Given the description of an element on the screen output the (x, y) to click on. 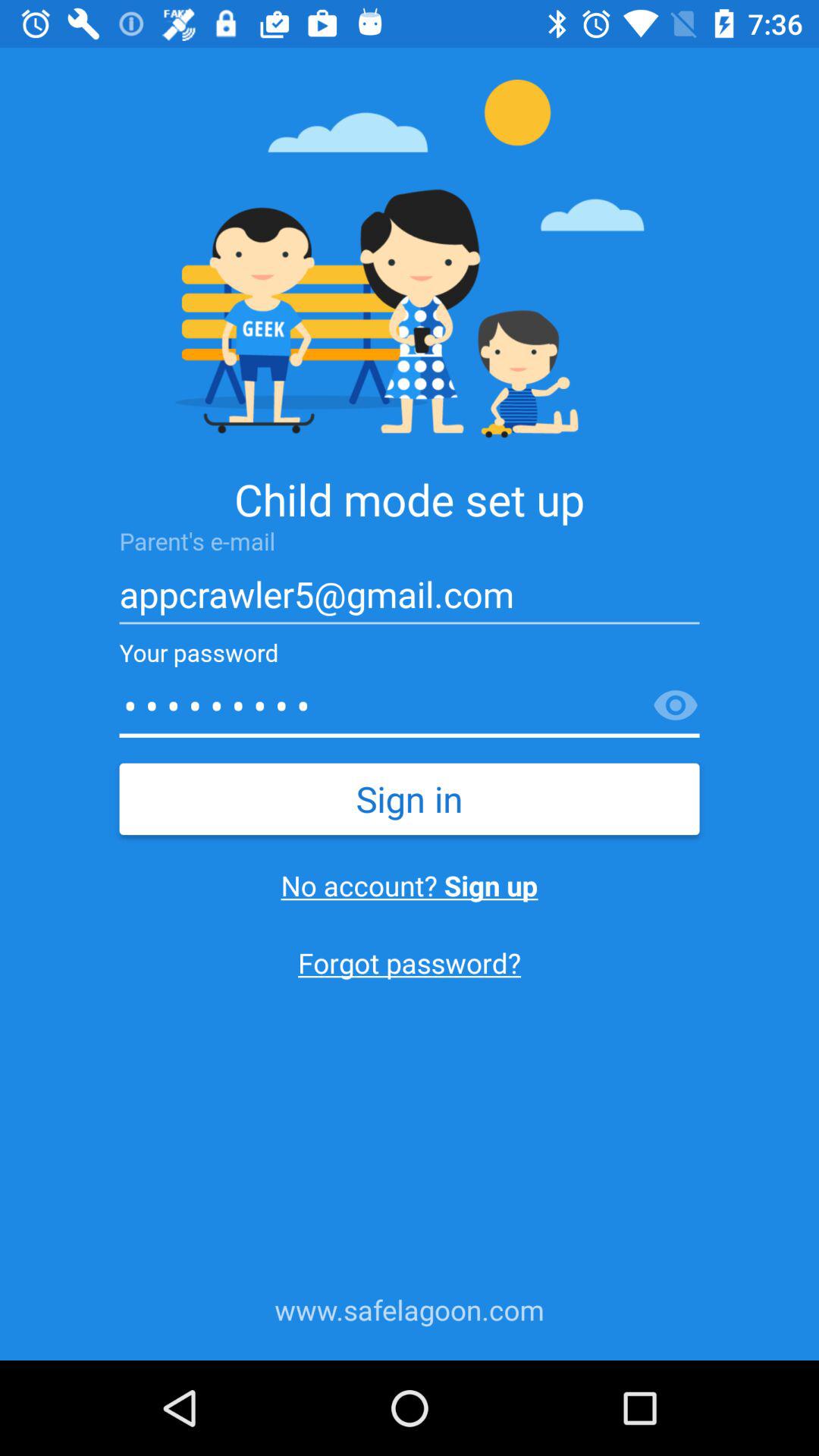
see password (675, 705)
